Given the description of an element on the screen output the (x, y) to click on. 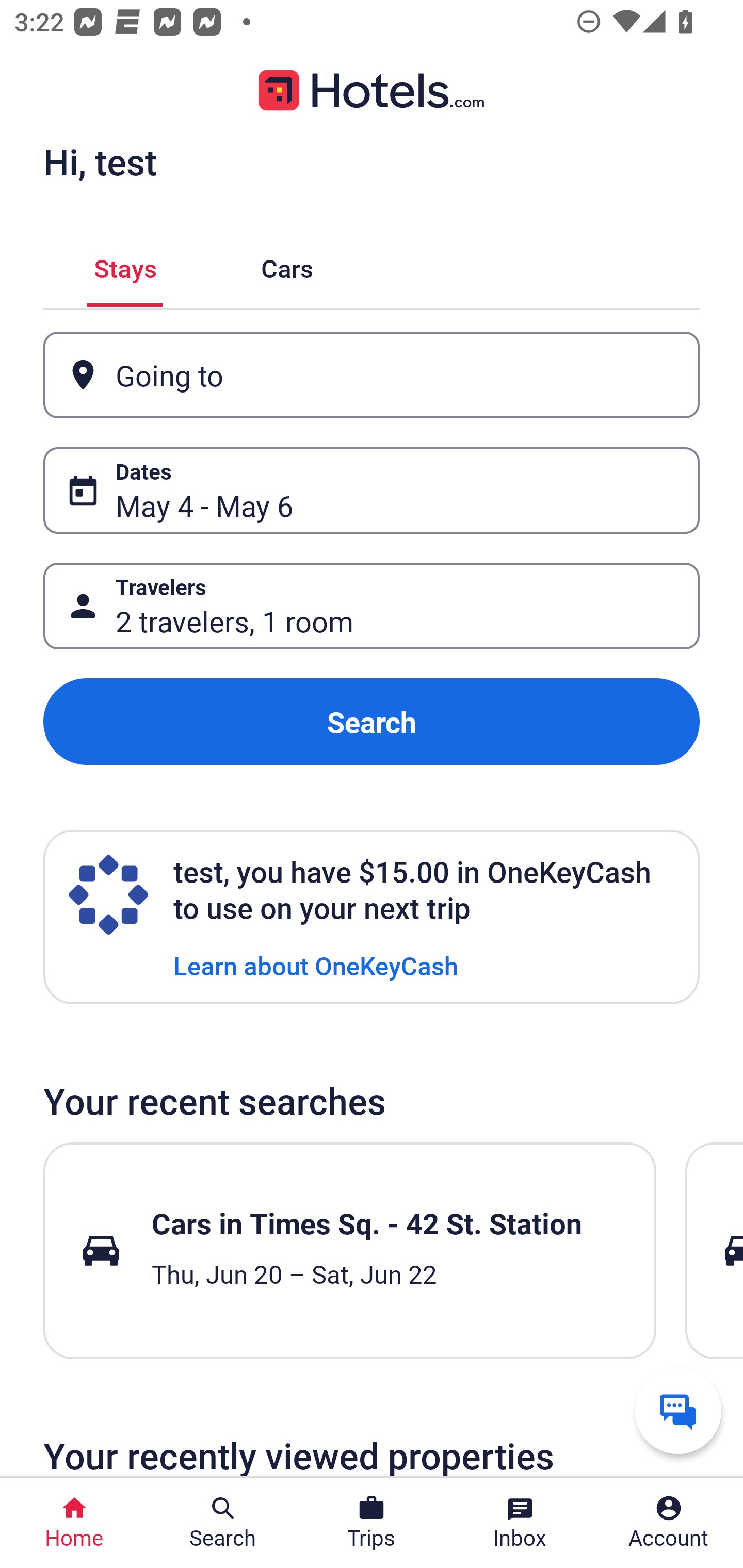
Hi, test (99, 161)
Cars (286, 265)
Going to Button (371, 375)
Dates Button May 4 - May 6 (371, 489)
Travelers Button 2 travelers, 1 room (371, 605)
Search (371, 721)
Learn about OneKeyCash Learn about OneKeyCash Link (315, 964)
Get help from a virtual agent (677, 1410)
Search Search Button (222, 1522)
Trips Trips Button (371, 1522)
Inbox Inbox Button (519, 1522)
Account Profile. Button (668, 1522)
